Given the description of an element on the screen output the (x, y) to click on. 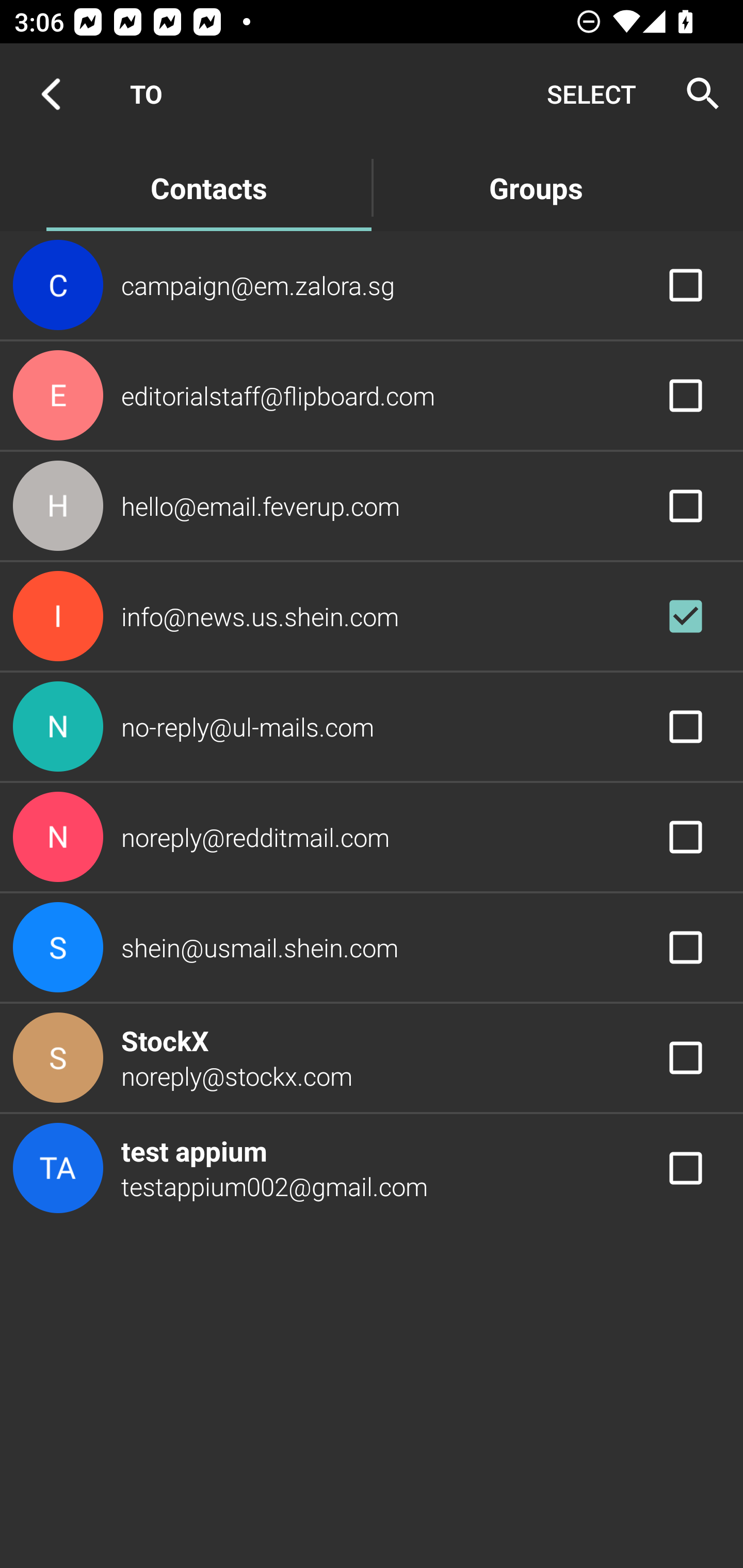
Navigate up (50, 93)
SELECT (590, 93)
Search (696, 93)
Contacts (208, 187)
Groups (535, 187)
campaign@em.zalora.sg (371, 284)
editorialstaff@flipboard.com (371, 395)
hello@email.feverup.com (371, 505)
info@news.us.shein.com (371, 616)
no-reply@ul-mails.com (371, 726)
noreply@redditmail.com (371, 836)
shein@usmail.shein.com (371, 947)
StockX noreply@stockx.com (371, 1057)
test appium testappium002@gmail.com (371, 1168)
